Given the description of an element on the screen output the (x, y) to click on. 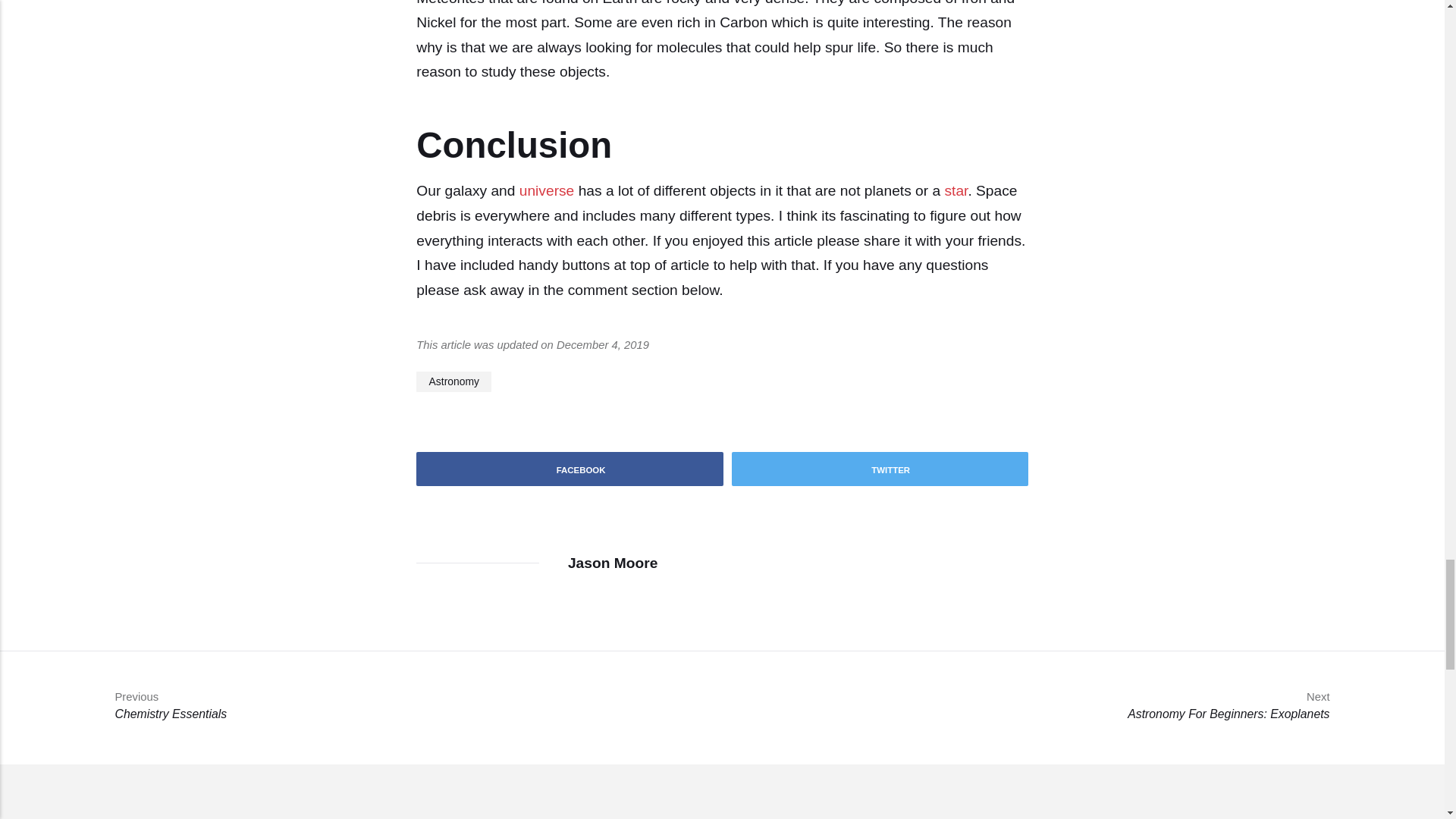
TWITTER (879, 469)
FACEBOOK (164, 705)
universe (569, 469)
Jason Moore (547, 190)
star (612, 562)
Astronomy (955, 190)
